Given the description of an element on the screen output the (x, y) to click on. 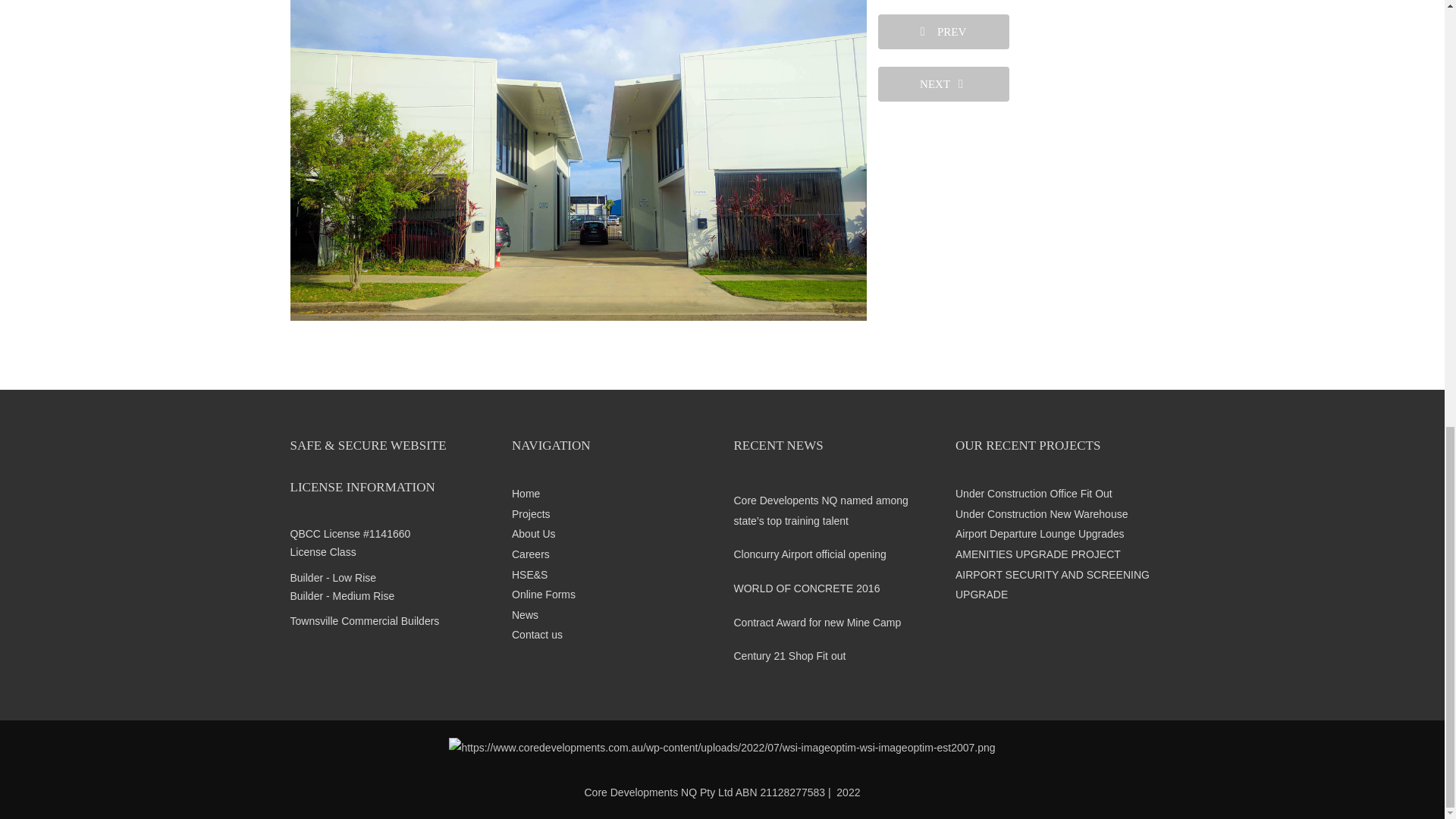
NEXT   (943, 83)
NEXT   (943, 75)
Careers (611, 554)
  PREV (943, 31)
Projects (611, 514)
Home (611, 494)
About Us (611, 534)
  PREV (943, 24)
